Given the description of an element on the screen output the (x, y) to click on. 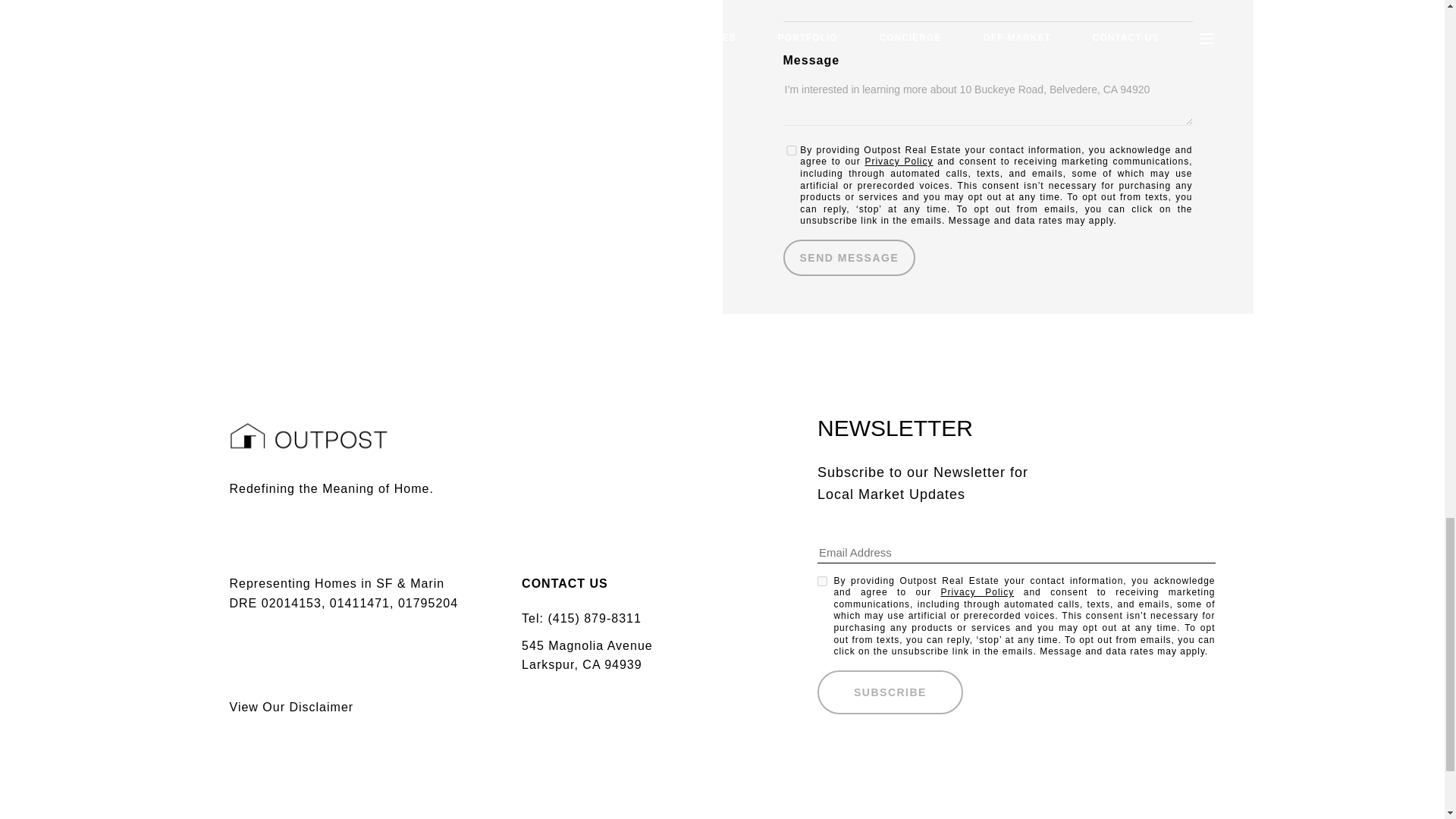
on (821, 581)
SEND MESSAGE (849, 257)
on (791, 150)
SUBSCRIBE (889, 692)
